Given the description of an element on the screen output the (x, y) to click on. 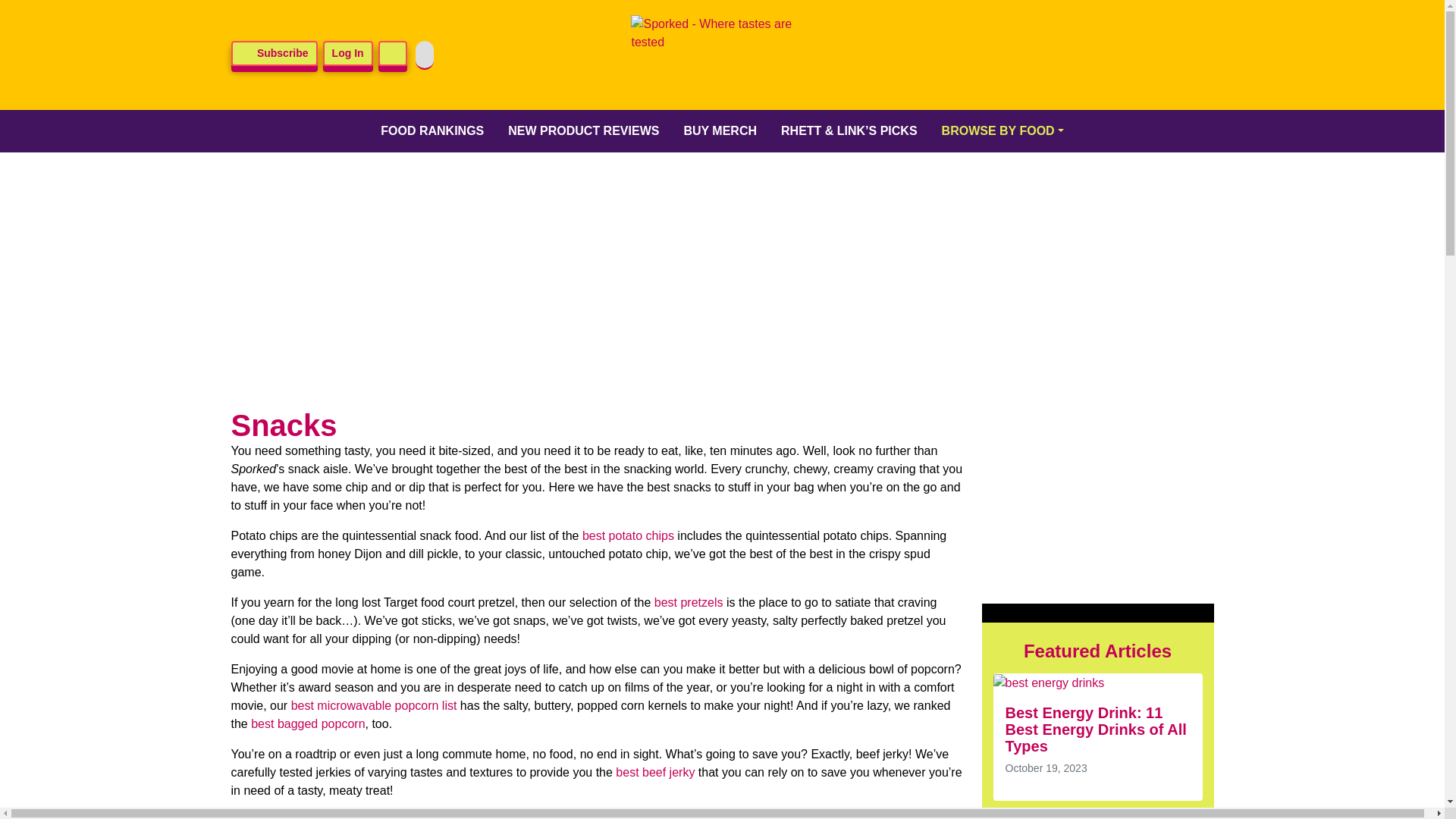
NEW PRODUCT REVIEWS (583, 130)
FOOD RANKINGS (432, 130)
Twitter, opens in new tab (996, 54)
Facebook, opens in new tab (1035, 54)
Flipboard, opens in new tab (1192, 54)
Search (392, 53)
Subscribe (273, 53)
Log In (347, 53)
Instagram, opens in new tab (1074, 54)
Search for: (423, 54)
BUY MERCH (719, 130)
BROWSE BY FOOD (1002, 130)
Tiktok, opens in new tab (1114, 54)
YouTube, opens in new tab (1153, 54)
